Given the description of an element on the screen output the (x, y) to click on. 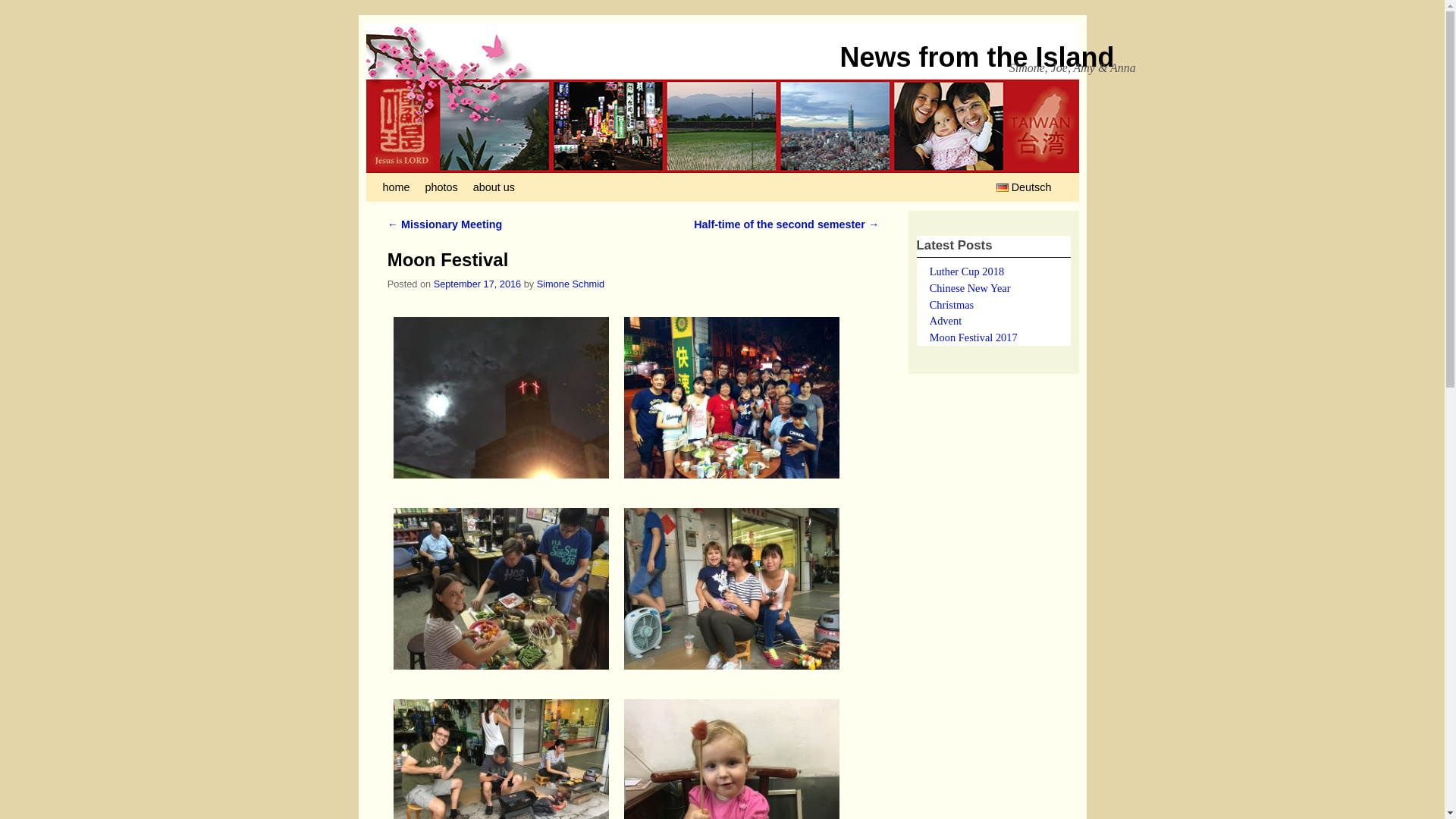
Moon Festival 2017 (973, 337)
News from the Island (976, 56)
View all posts by Simone Schmid (570, 283)
photos (440, 186)
9:05 am (477, 283)
Chinese New Year (970, 287)
Skip to primary content (444, 186)
about us (493, 186)
Advent (945, 320)
home (395, 186)
Christmas (952, 304)
Skip to secondary content (451, 186)
Luther Cup 2018 (967, 271)
Simone Schmid (570, 283)
Deutsch (1022, 186)
